Given the description of an element on the screen output the (x, y) to click on. 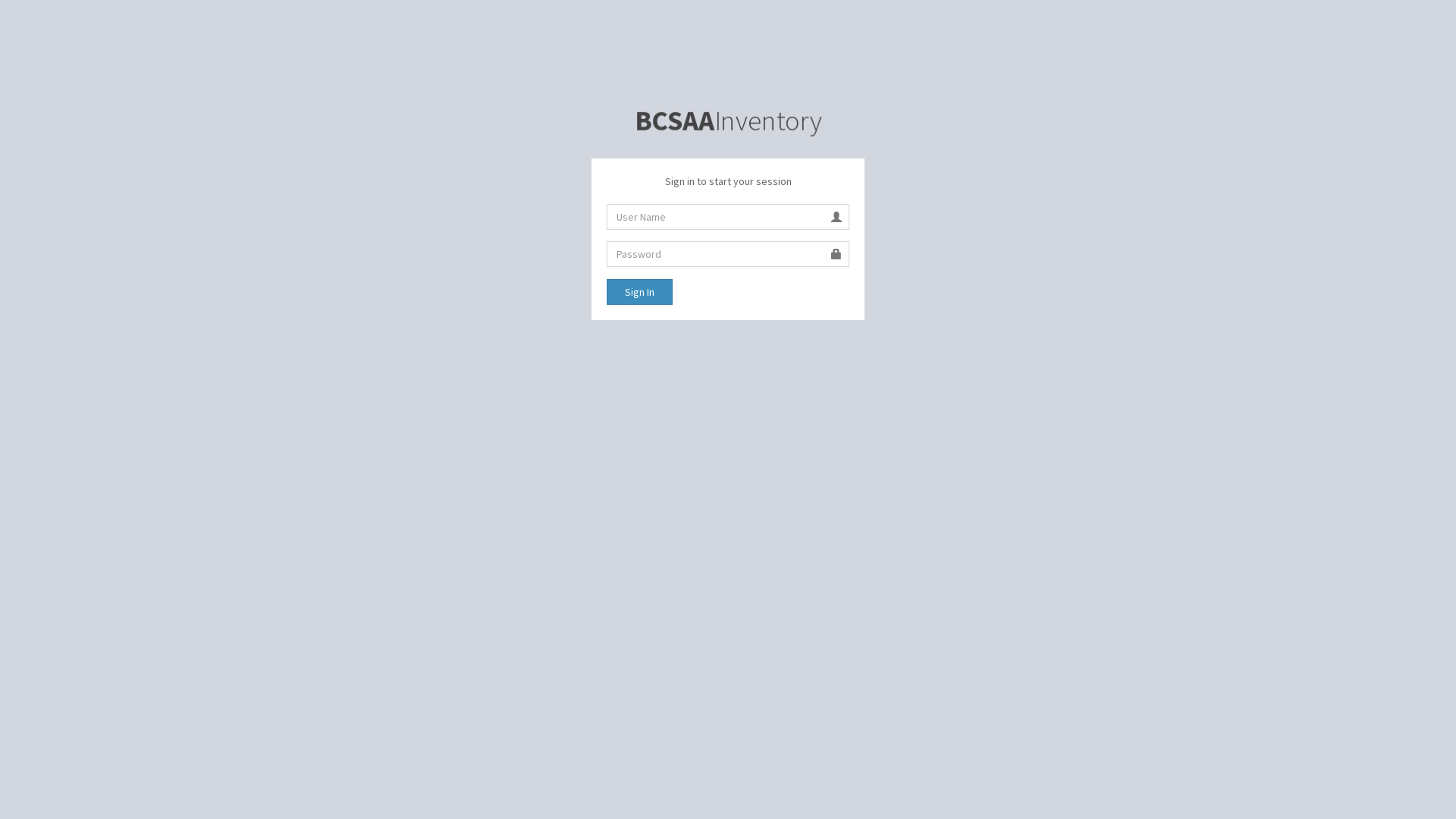
Sign In Element type: text (639, 291)
BCSAAInventory Element type: text (724, 120)
